Given the description of an element on the screen output the (x, y) to click on. 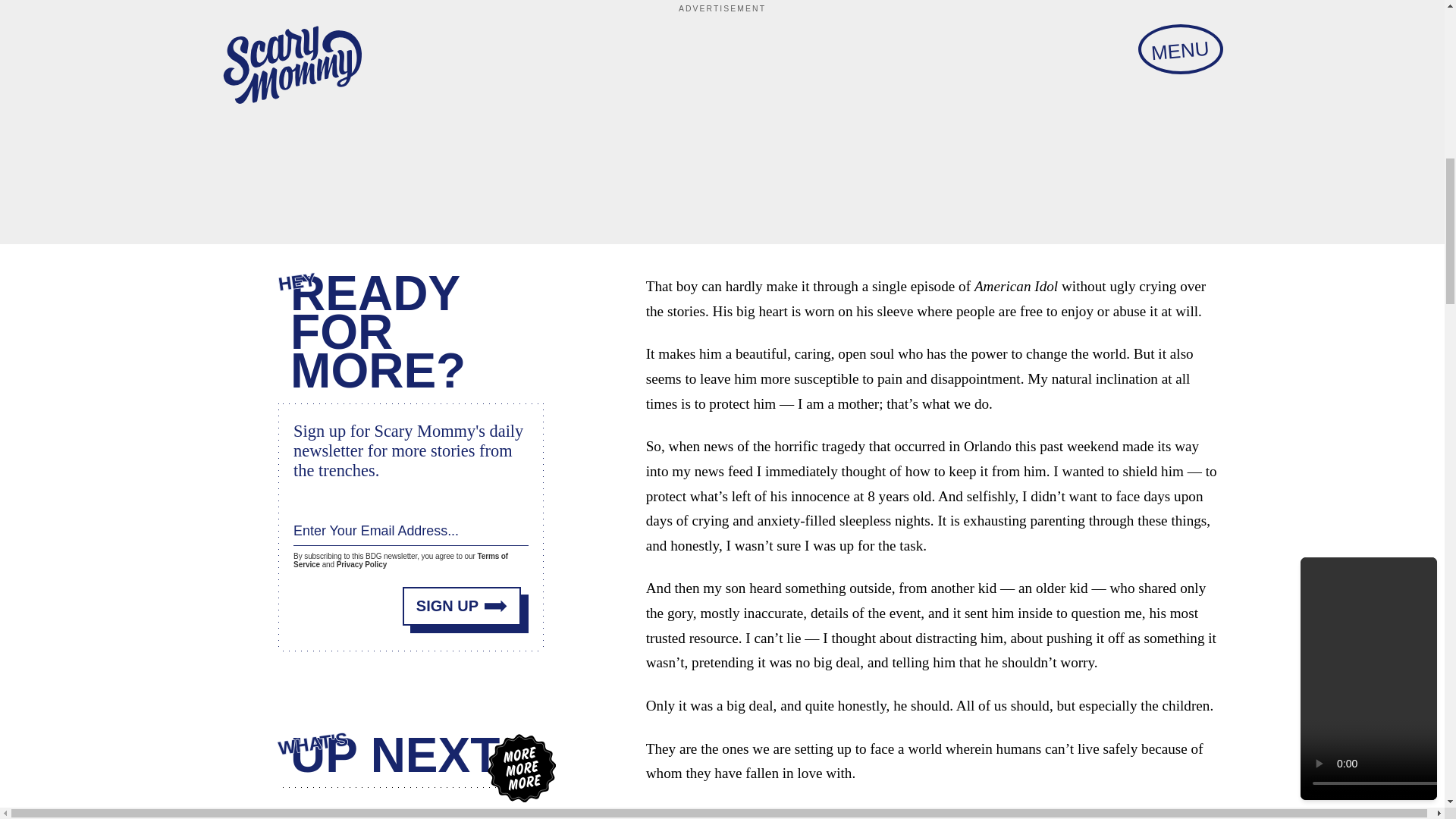
SIGN UP (462, 606)
Privacy Policy (361, 564)
Terms of Service (401, 560)
